Given the description of an element on the screen output the (x, y) to click on. 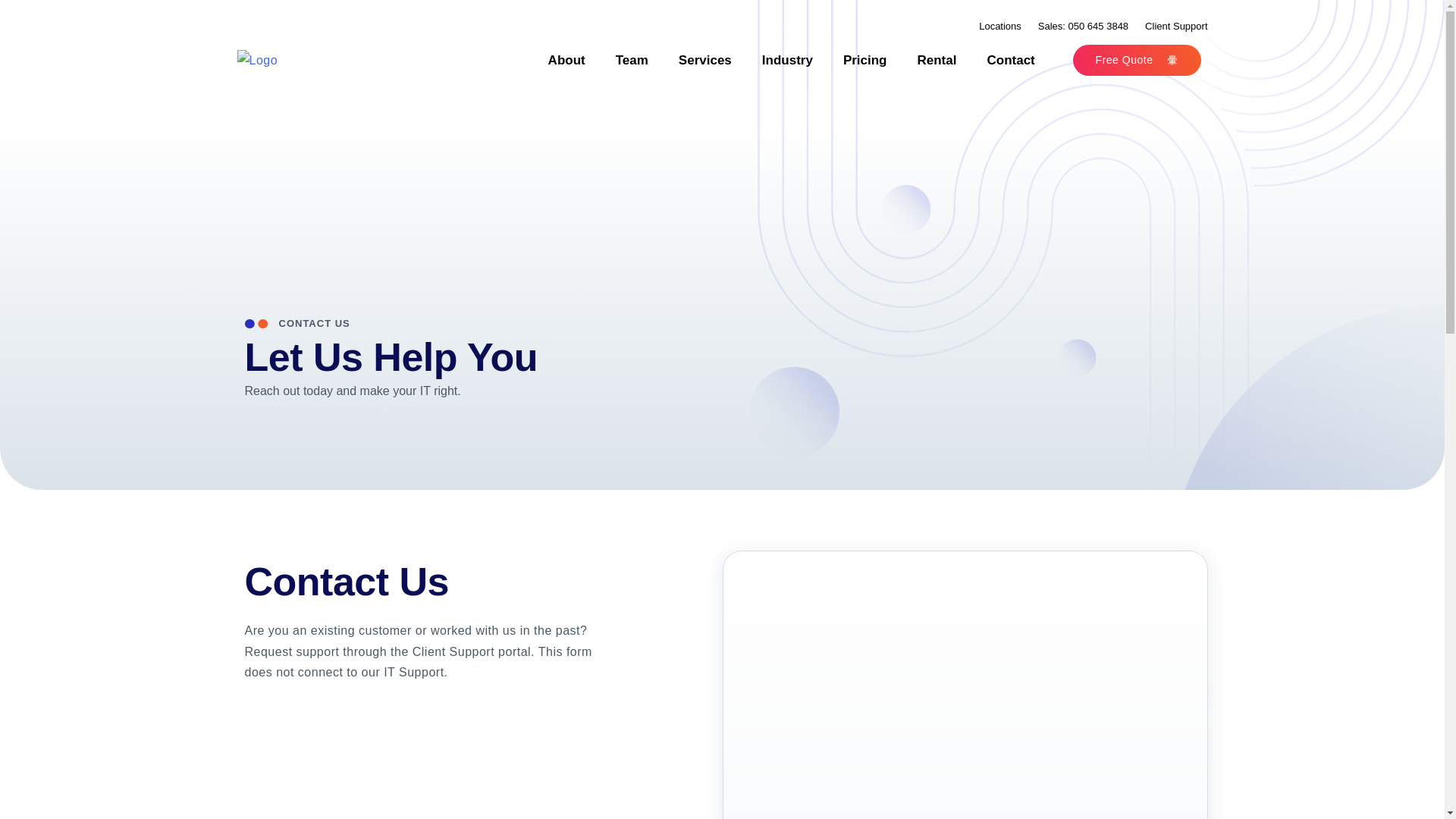
Pricing (865, 59)
Sales: 050 645 3848 (1083, 26)
Free Quote (1137, 59)
Team (631, 59)
About (565, 59)
Locations (1000, 26)
Industry (787, 59)
Contact (1010, 59)
Client Support (1175, 26)
Rental (937, 59)
Logo (256, 59)
Services (704, 59)
